Given the description of an element on the screen output the (x, y) to click on. 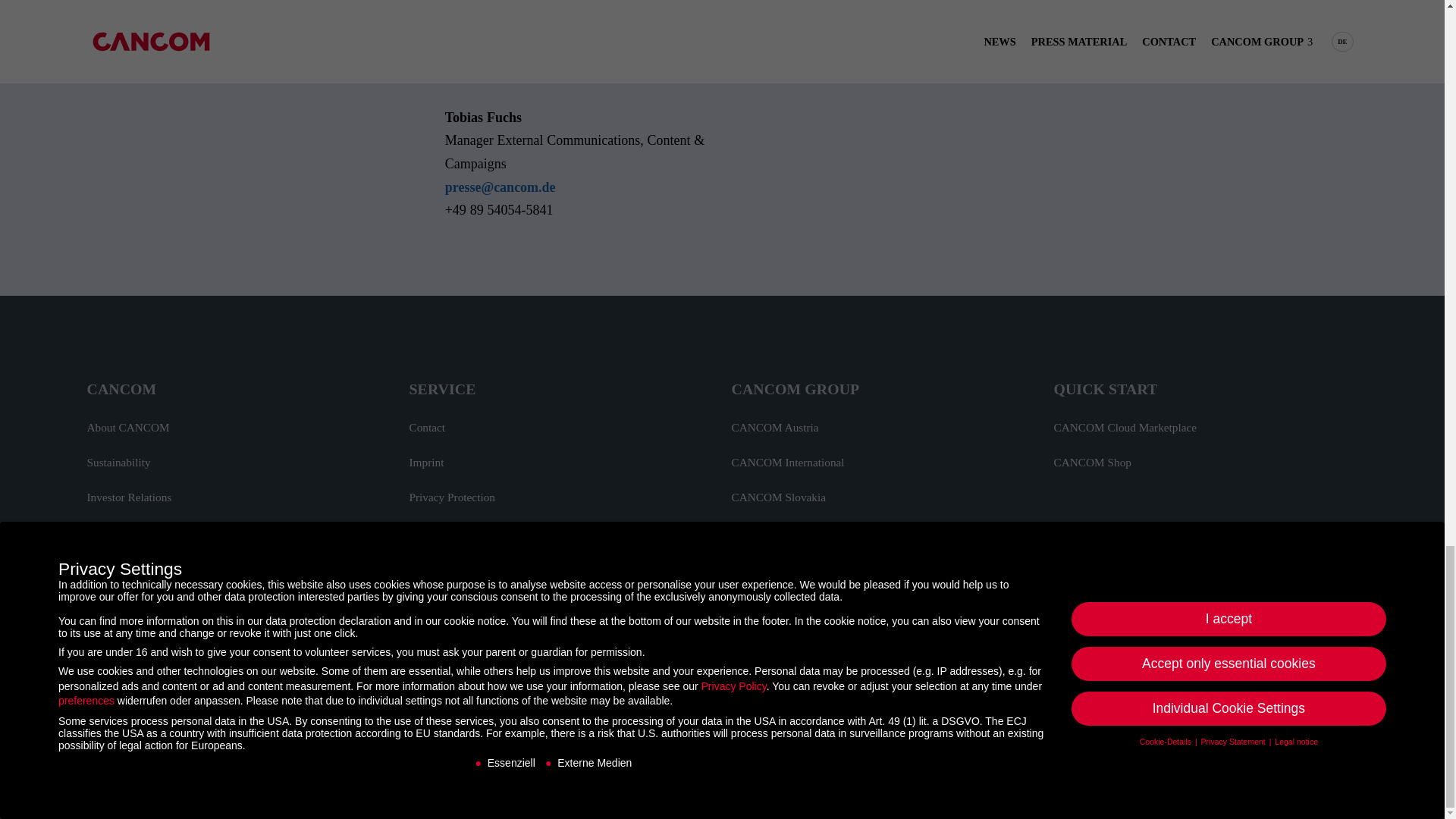
CANCOM honored with NetApp Partner Award 2022 6 (1170, 717)
CANCOM Slovakia (777, 496)
CANCOM International (787, 462)
CANCOM honored with NetApp Partner Award 2022 7 (1214, 717)
Investor Relations (128, 496)
Locations (108, 567)
CANCOM honored with NetApp Partner Award 2022 5 (1127, 717)
Contact (427, 427)
CANCOM honored with NetApp Partner Award 2022 9 (1301, 717)
CANCOM Austria (774, 427)
CANCOM Career (128, 532)
Privacy Protection (452, 496)
CANCOM Switzerland (785, 532)
CANCOM Cloud Marketplace (1125, 427)
About CANCOM (126, 427)
